Given the description of an element on the screen output the (x, y) to click on. 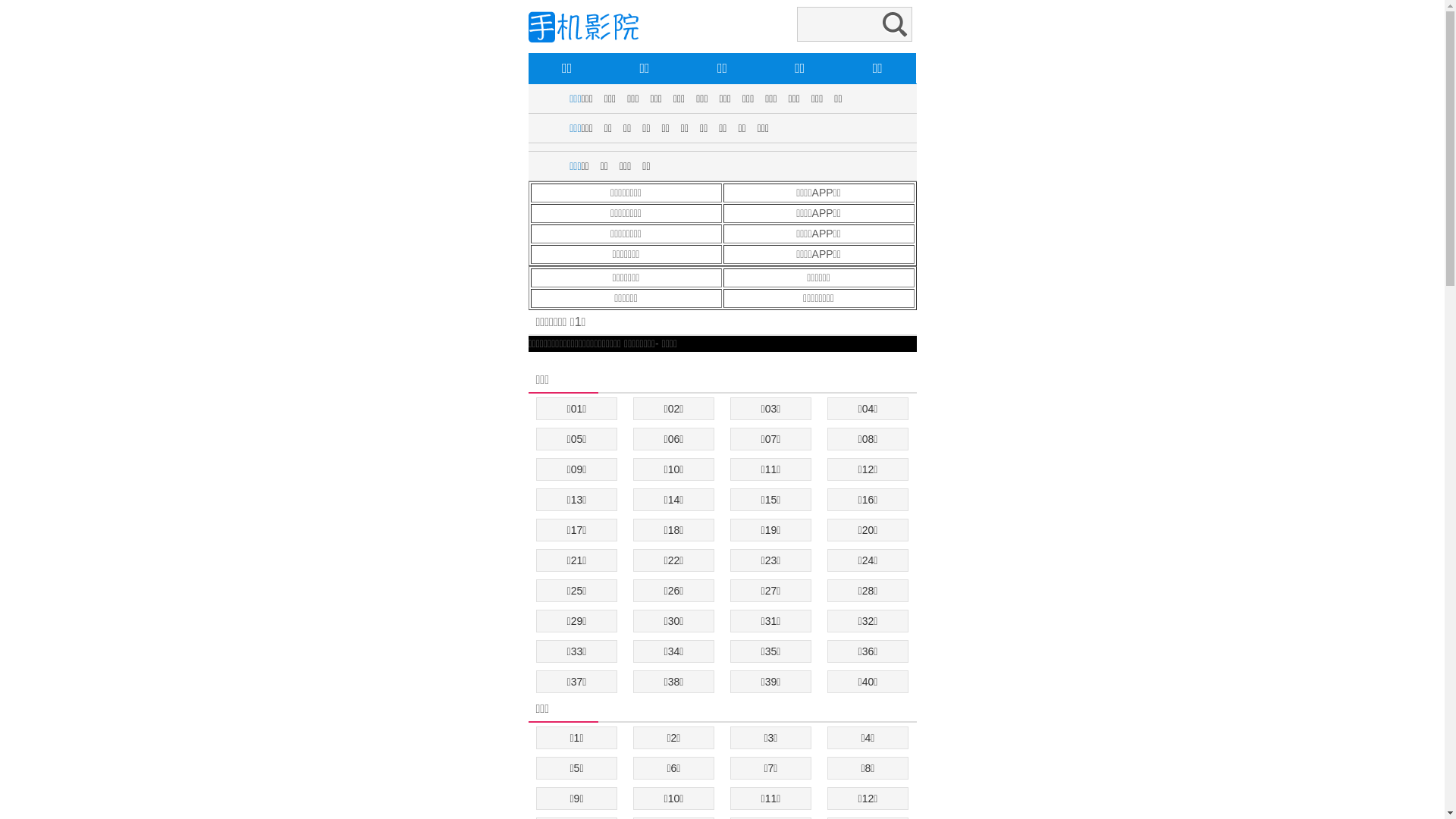
  Element type: text (528, 359)
